Given the description of an element on the screen output the (x, y) to click on. 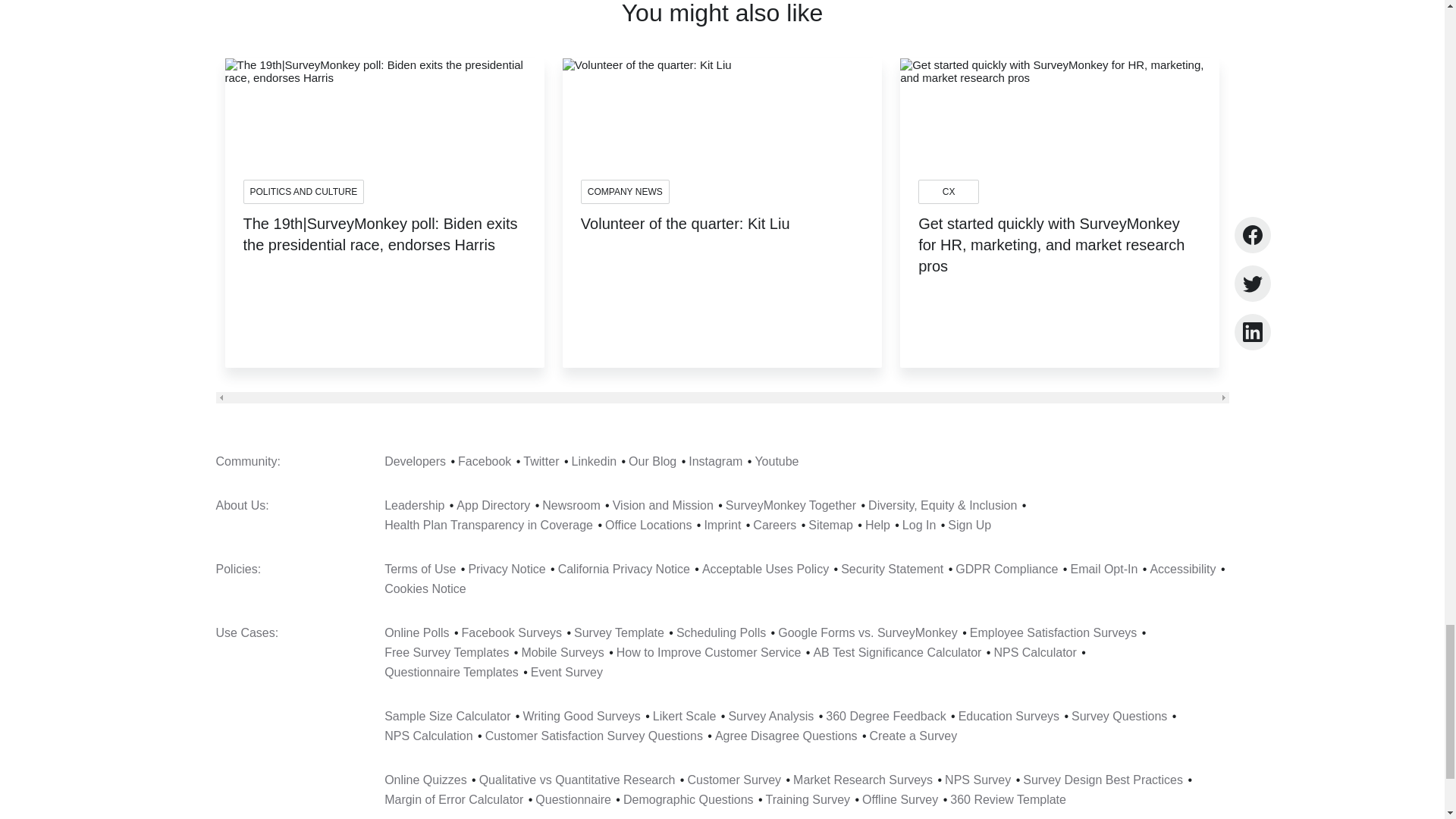
Developers (414, 461)
POLITICS AND CULTURE (303, 191)
CX (948, 191)
COMPANY NEWS (624, 191)
Volunteer of the quarter: Kit Liu (685, 237)
Community: (247, 461)
Volunteer of the quarter: Kit Liu (685, 237)
